Given the description of an element on the screen output the (x, y) to click on. 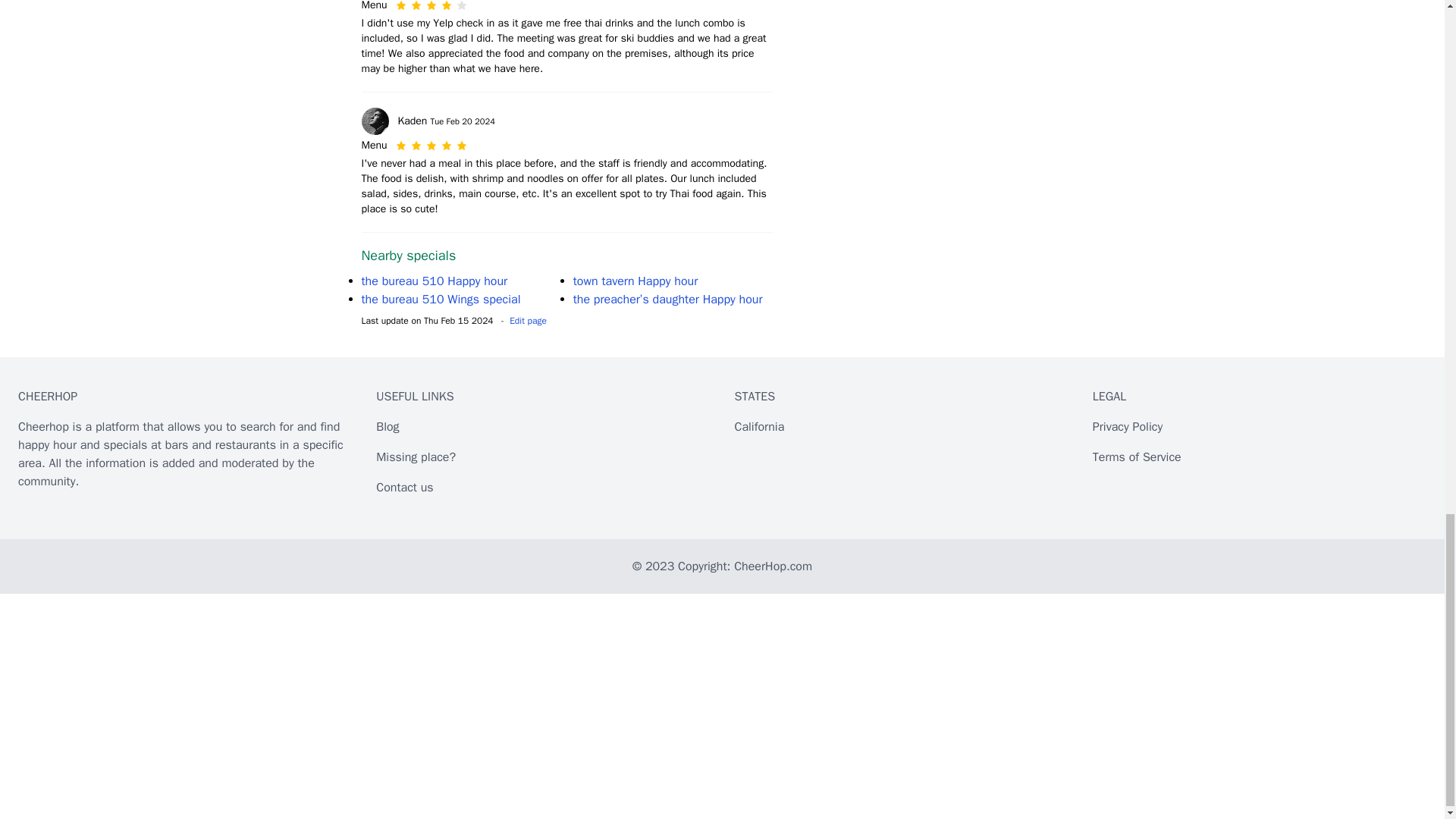
the bureau 510 Happy hour (433, 281)
Privacy Policy (1127, 426)
California (758, 426)
Edit page (528, 320)
Contact us (403, 487)
Blog (386, 426)
Missing place? (415, 457)
town tavern Happy hour (635, 281)
the bureau 510 Wings special (440, 299)
Terms of Service (1136, 457)
CheerHop.com (772, 566)
